Given the description of an element on the screen output the (x, y) to click on. 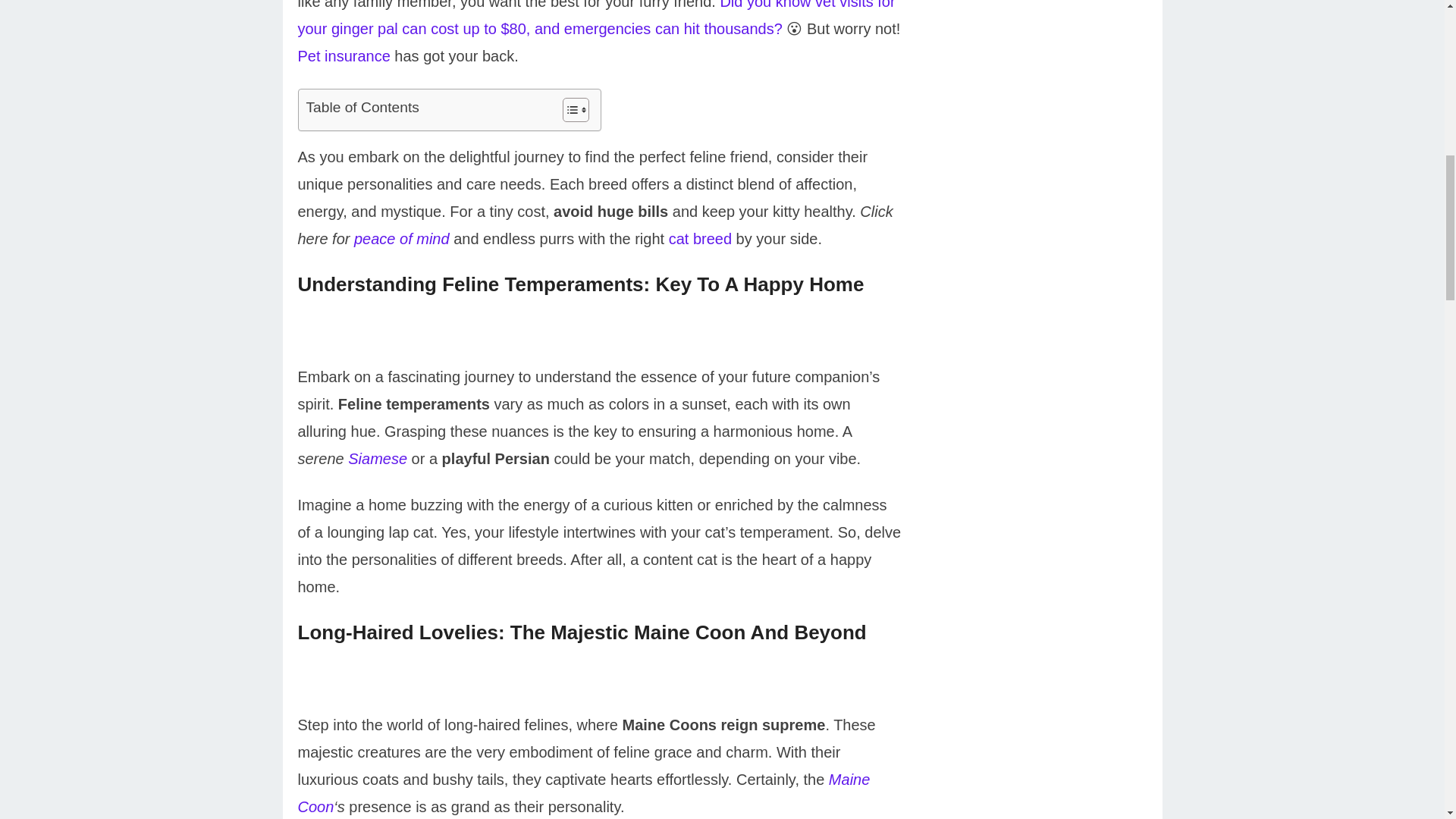
cat breed (700, 238)
peace of mind (401, 238)
Siamese (377, 458)
Maine Coon (583, 792)
Pet insurance (343, 55)
